Given the description of an element on the screen output the (x, y) to click on. 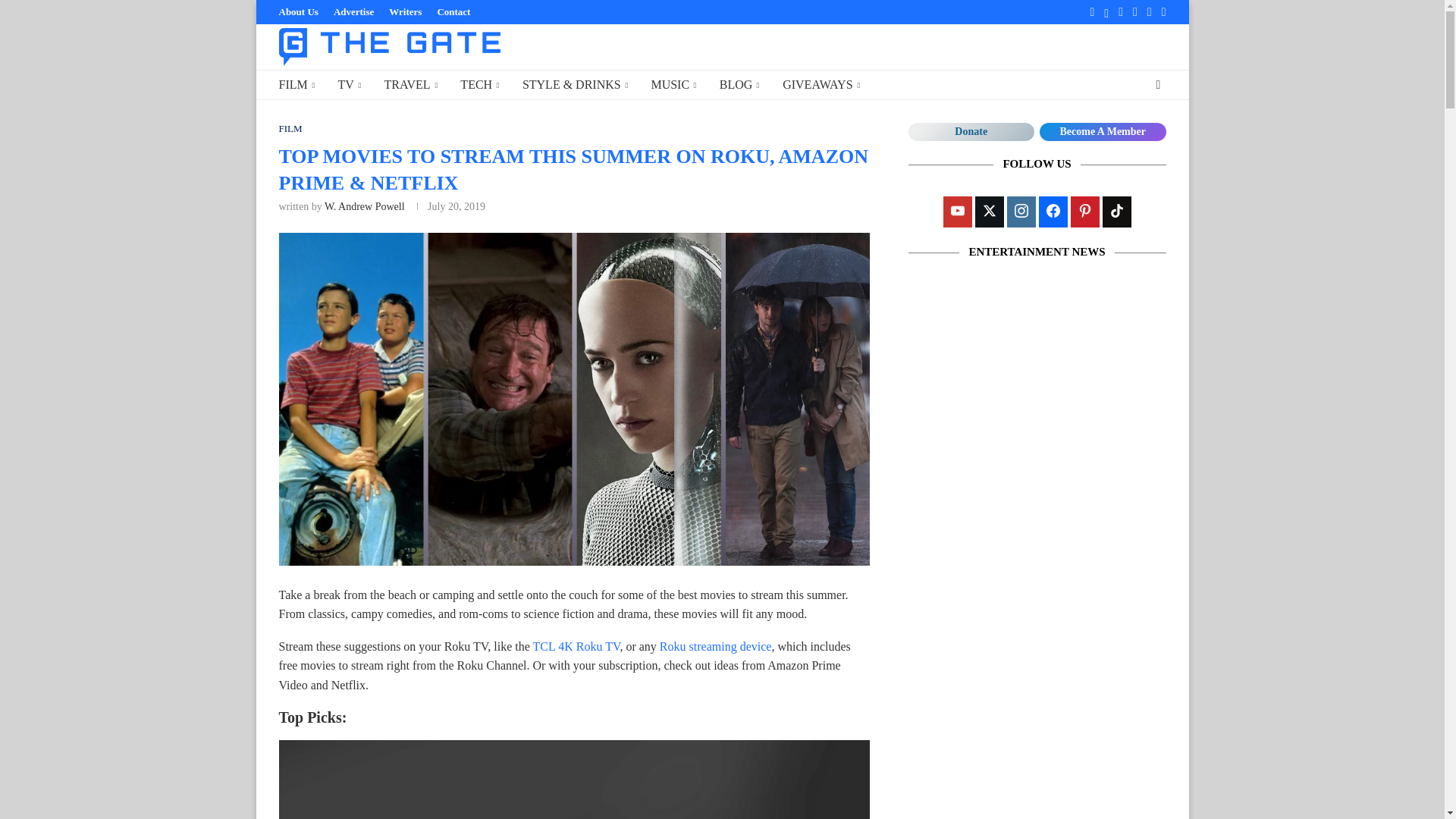
FILM (290, 128)
TCL 4K Roku TV (576, 645)
TRAVEL (411, 84)
W. Andrew Powell (364, 206)
TECH (479, 84)
BLOG (739, 84)
GIVEAWAYS (821, 84)
Contact (453, 12)
MUSIC (672, 84)
Writers (405, 12)
Advertise (353, 12)
Roku streaming device (715, 645)
FILM (297, 84)
About Us (298, 12)
